Given the description of an element on the screen output the (x, y) to click on. 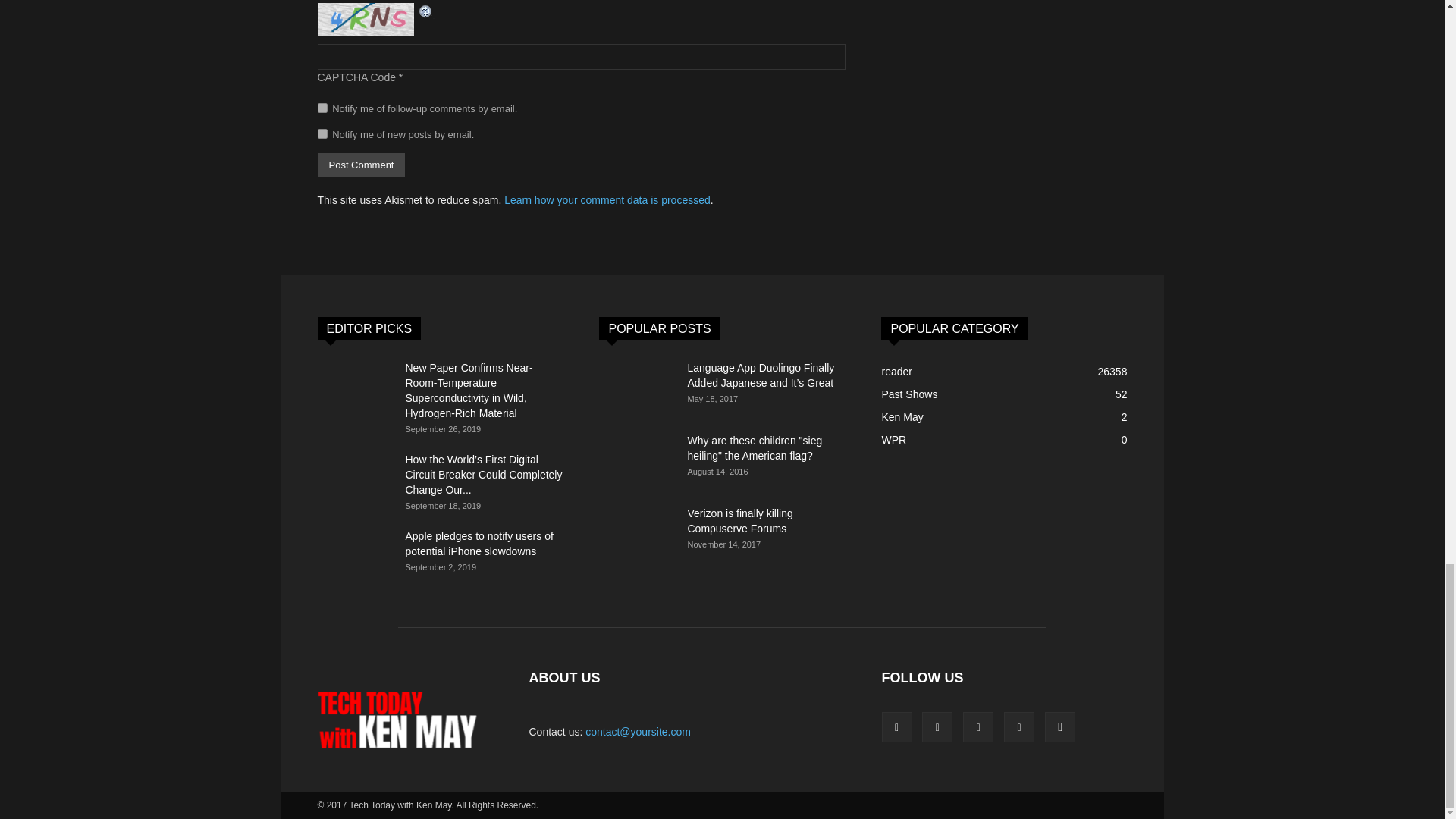
subscribe (321, 133)
subscribe (321, 108)
Post Comment (360, 164)
